Given the description of an element on the screen output the (x, y) to click on. 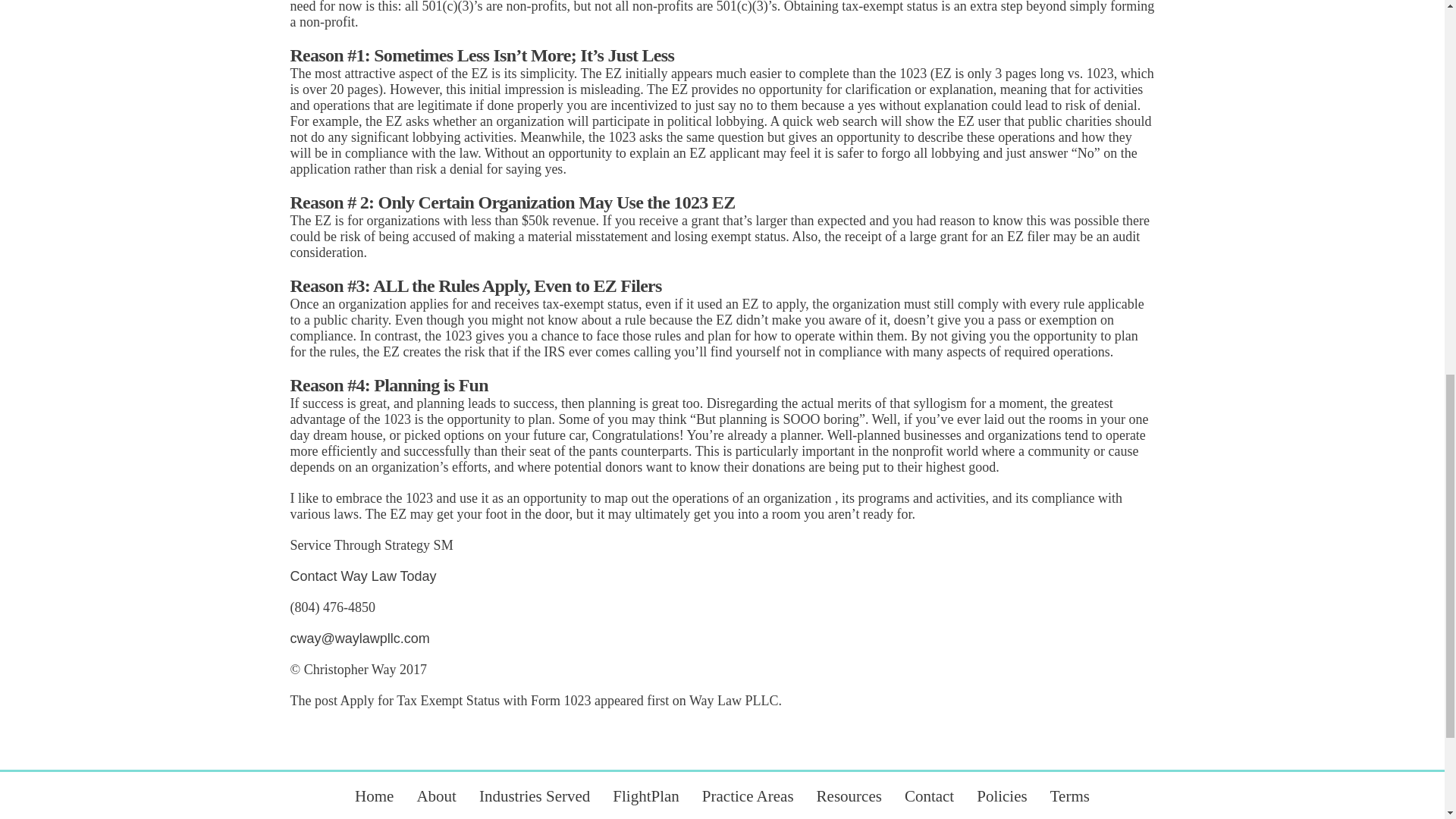
Industries Served (534, 796)
Contact Way Law Today (362, 575)
FlightPlan (645, 796)
Home (374, 796)
About (436, 796)
